Given the description of an element on the screen output the (x, y) to click on. 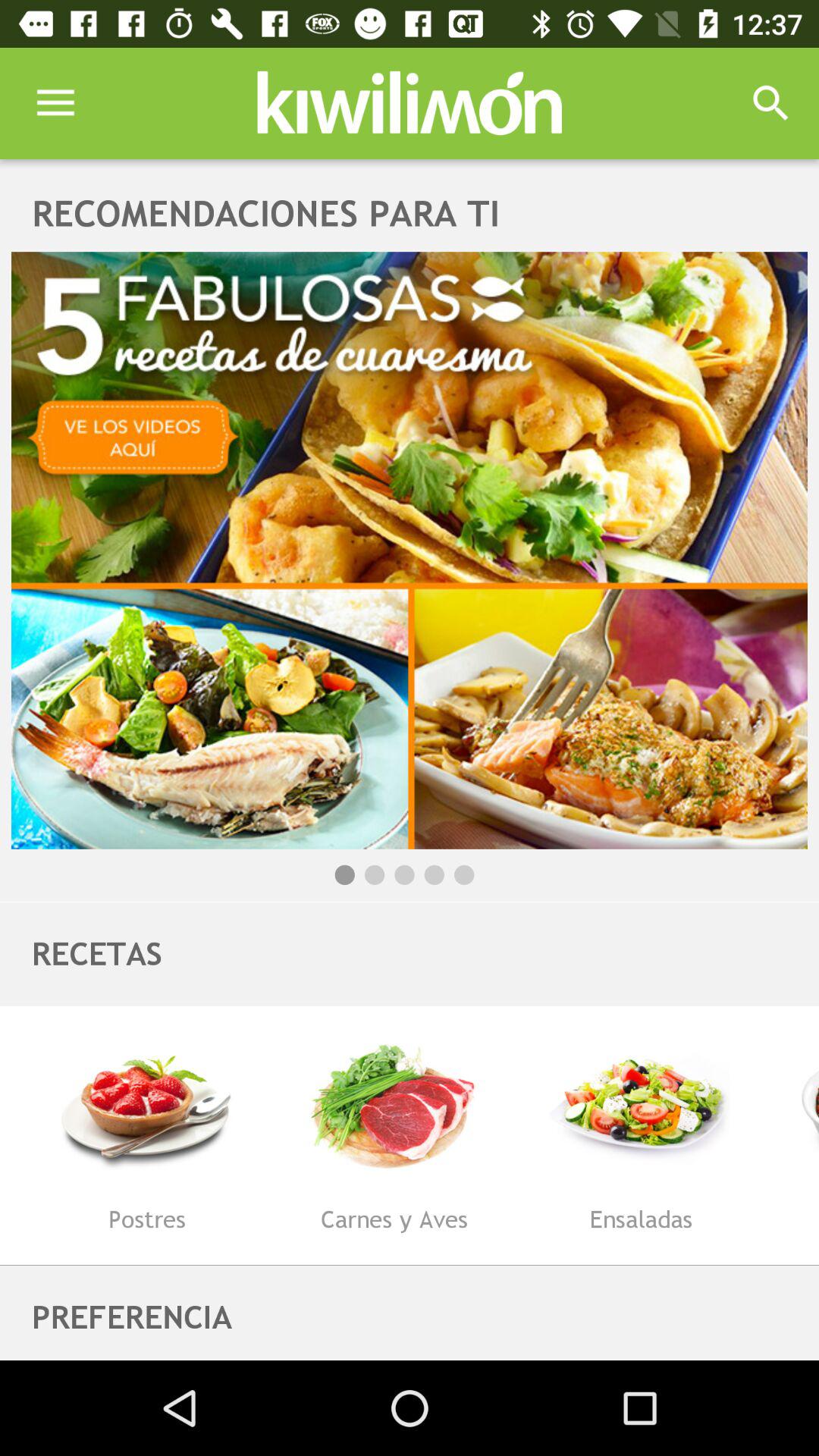
turn off the item above recomendaciones para ti item (55, 103)
